Given the description of an element on the screen output the (x, y) to click on. 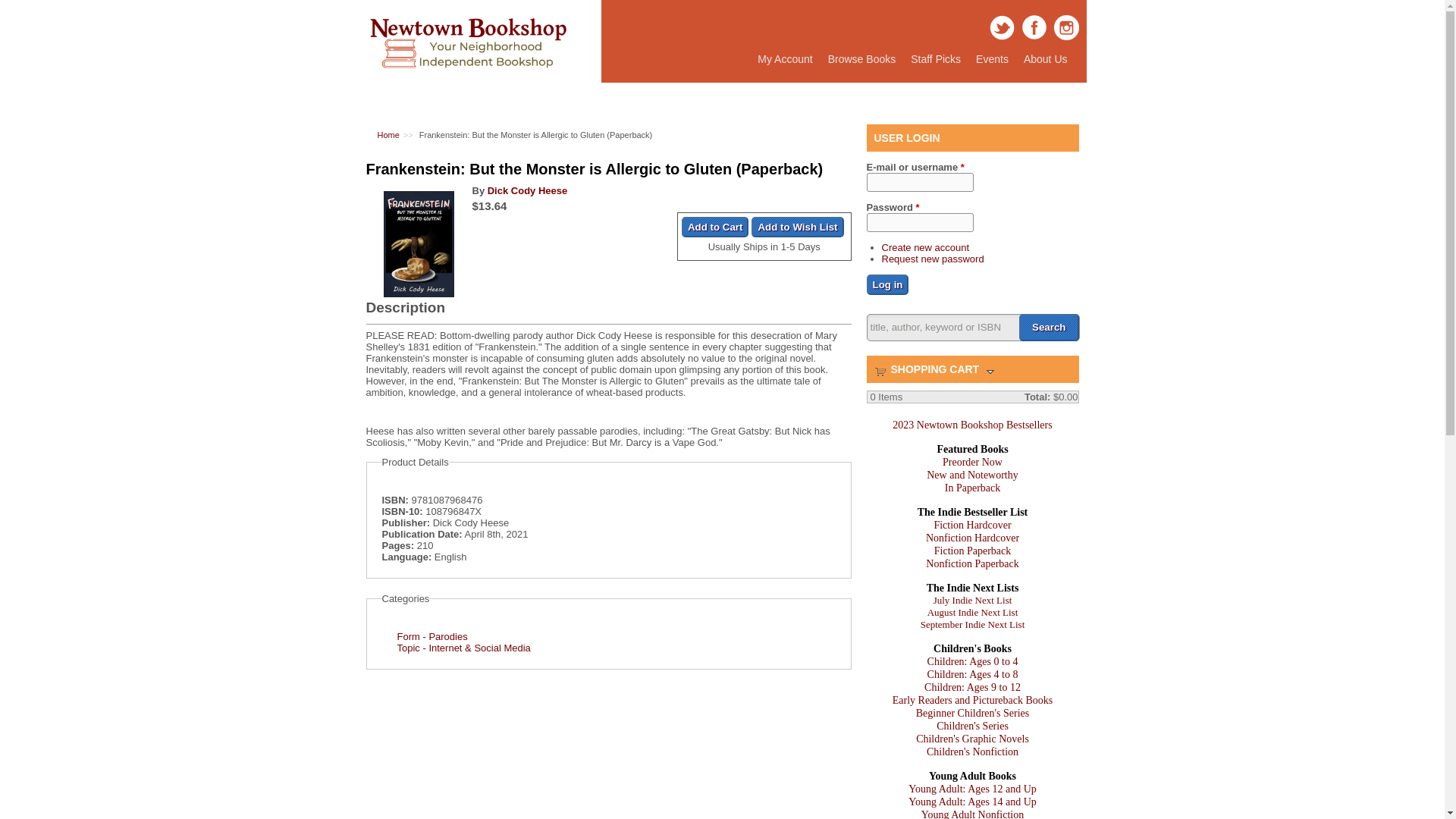
Add to Wish List (797, 227)
Early Readers and Pictureback Books (972, 699)
Log in (887, 284)
View your shopping cart. (879, 370)
My Account (784, 58)
July Indie Next List (972, 600)
Add to Cart (715, 227)
Fiction Paperback (972, 550)
About Us (1045, 58)
Nonfiction Hardcover (972, 537)
